Given the description of an element on the screen output the (x, y) to click on. 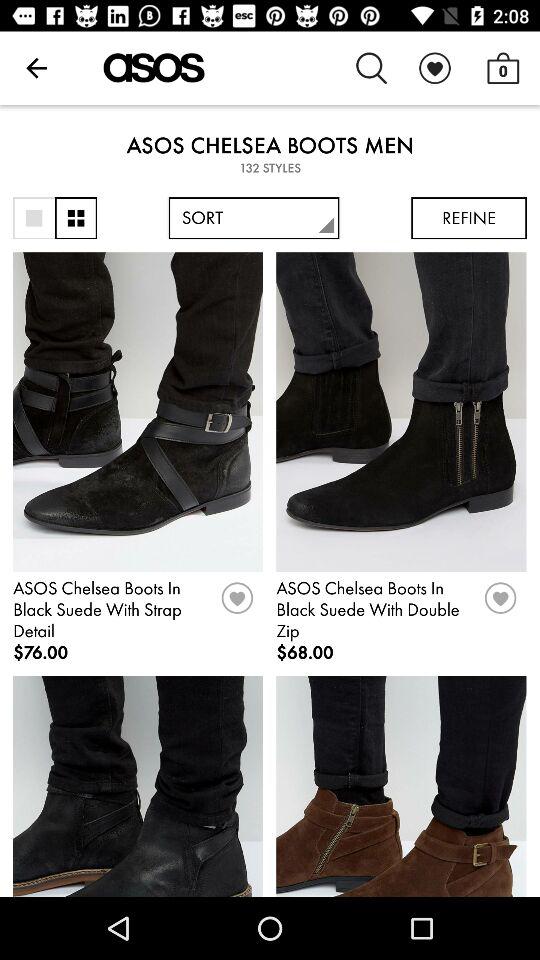
launch the icon to the left of the refine item (253, 218)
